Given the description of an element on the screen output the (x, y) to click on. 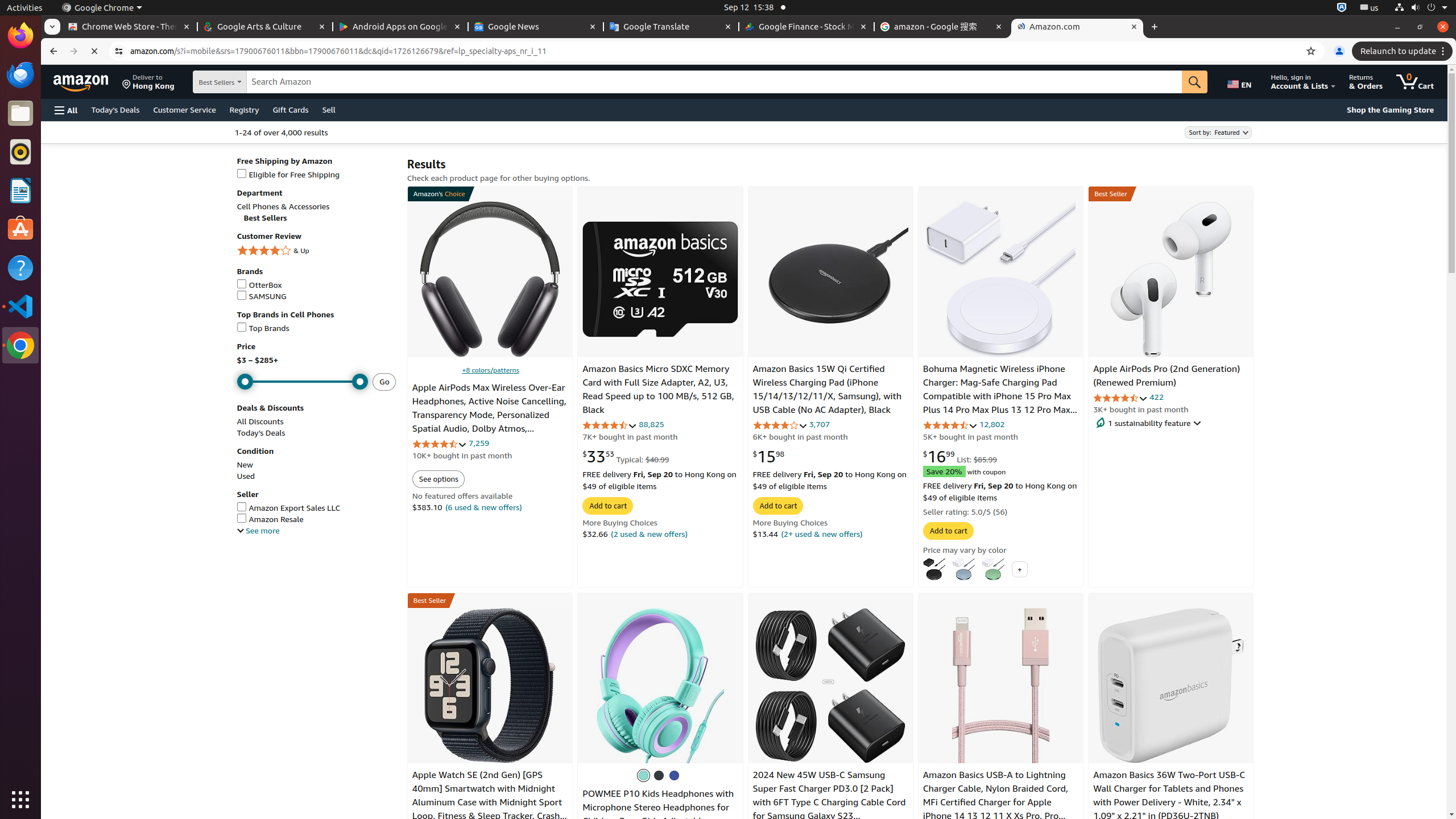
Eligible for Free Shipping Element type: list-item (315, 174)
Sell Element type: link (328, 109)
Apple AirPods Pro (2nd Generation) (Renewed Premium) Element type: link (1170, 279)
Forward Element type: push-button (73, 50)
See options Element type: link (438, 478)
